Given the description of an element on the screen output the (x, y) to click on. 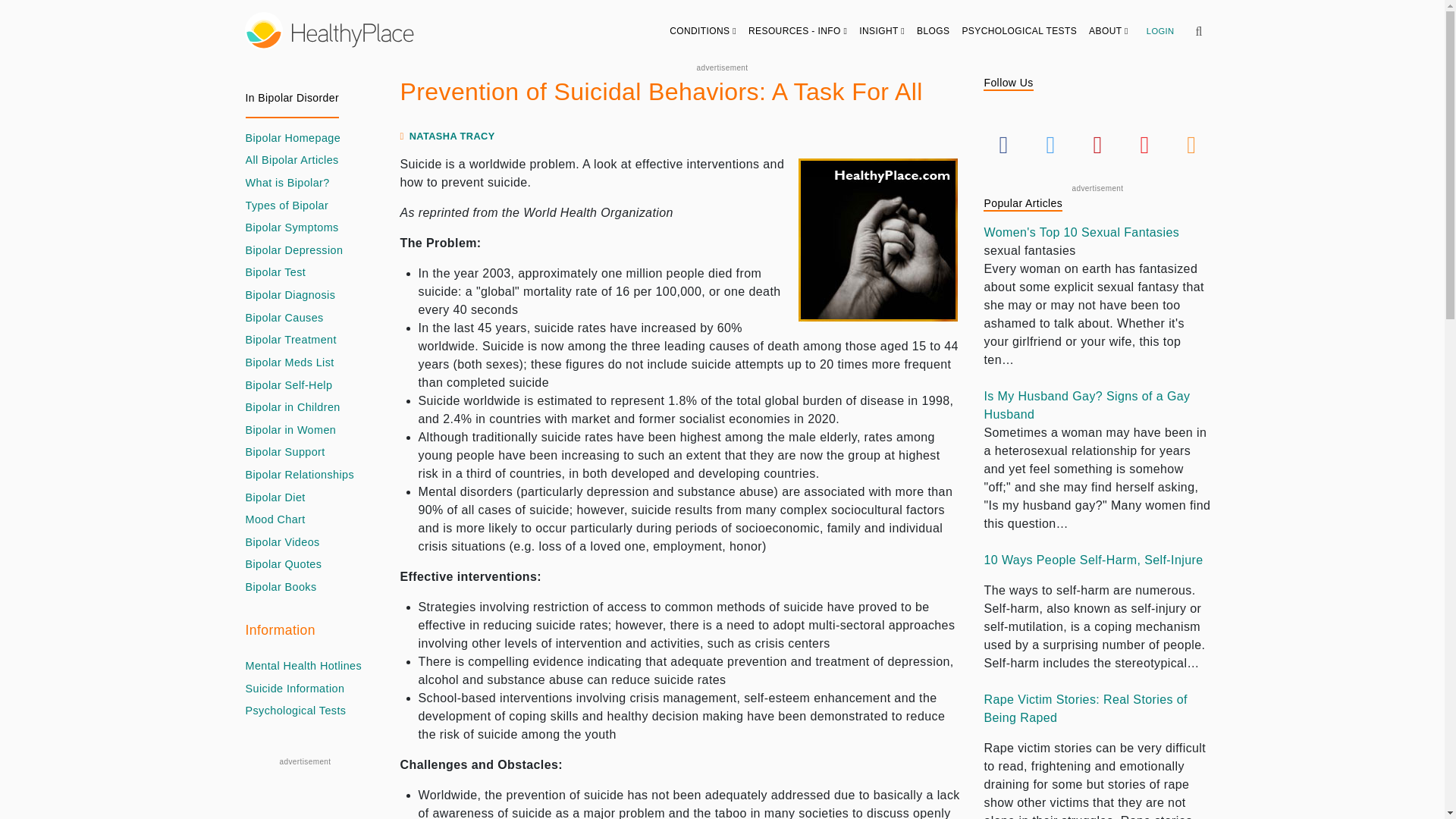
RESOURCES - INFO (797, 31)
Bipolar Relationships: What Makes Them So Challenging? (300, 475)
What Is Bipolar Disorder Self-Help and Is It Really Helpful? (289, 385)
How is Bipolar Disorder Diagnosed? (291, 295)
What Is Bipolar Disorder? Definition, Symptoms and Treatment (288, 183)
Bipolar Disorder Symptoms: How to Tell If You Have Bipolar (292, 228)
CONDITIONS (702, 31)
Bipolar Disorder in Children: Signs, Symptoms, Treatment (293, 407)
